Given the description of an element on the screen output the (x, y) to click on. 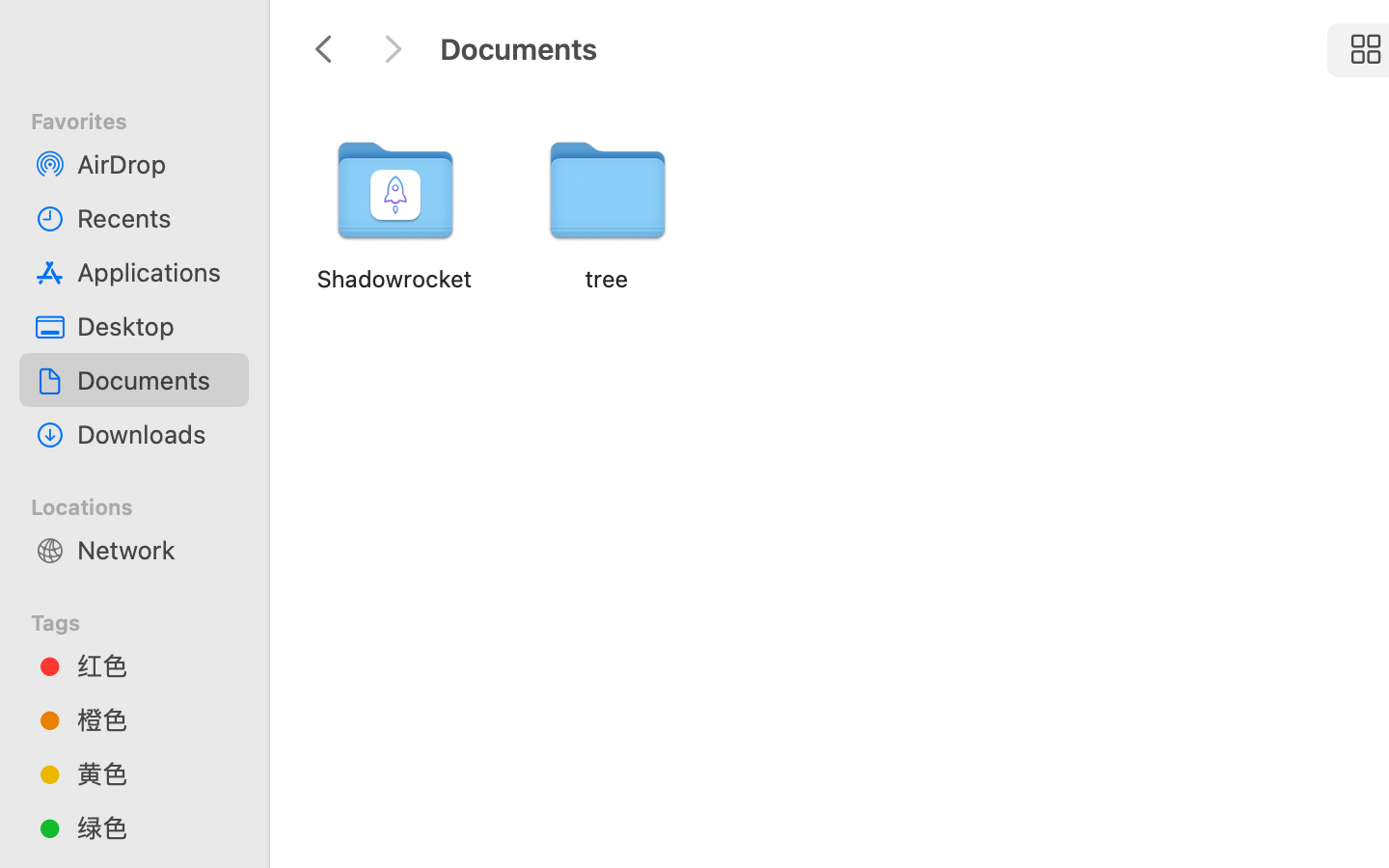
Network Element type: AXStaticText (155, 549)
AirDrop Element type: AXStaticText (155, 163)
橙色 Element type: AXStaticText (155, 719)
Locations Element type: AXStaticText (145, 504)
Desktop Element type: AXStaticText (155, 325)
